Given the description of an element on the screen output the (x, y) to click on. 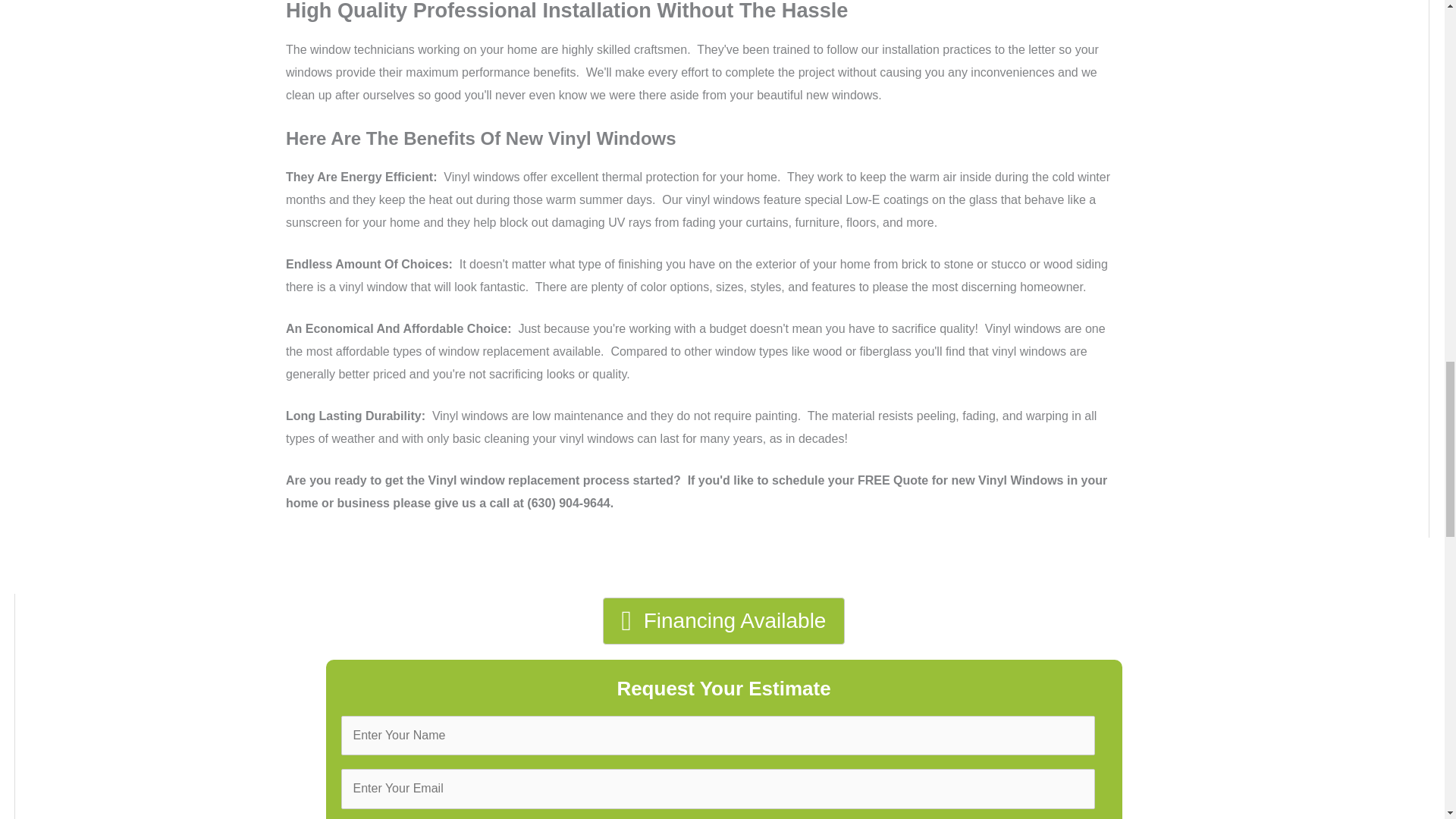
Financing Available (723, 620)
